Given the description of an element on the screen output the (x, y) to click on. 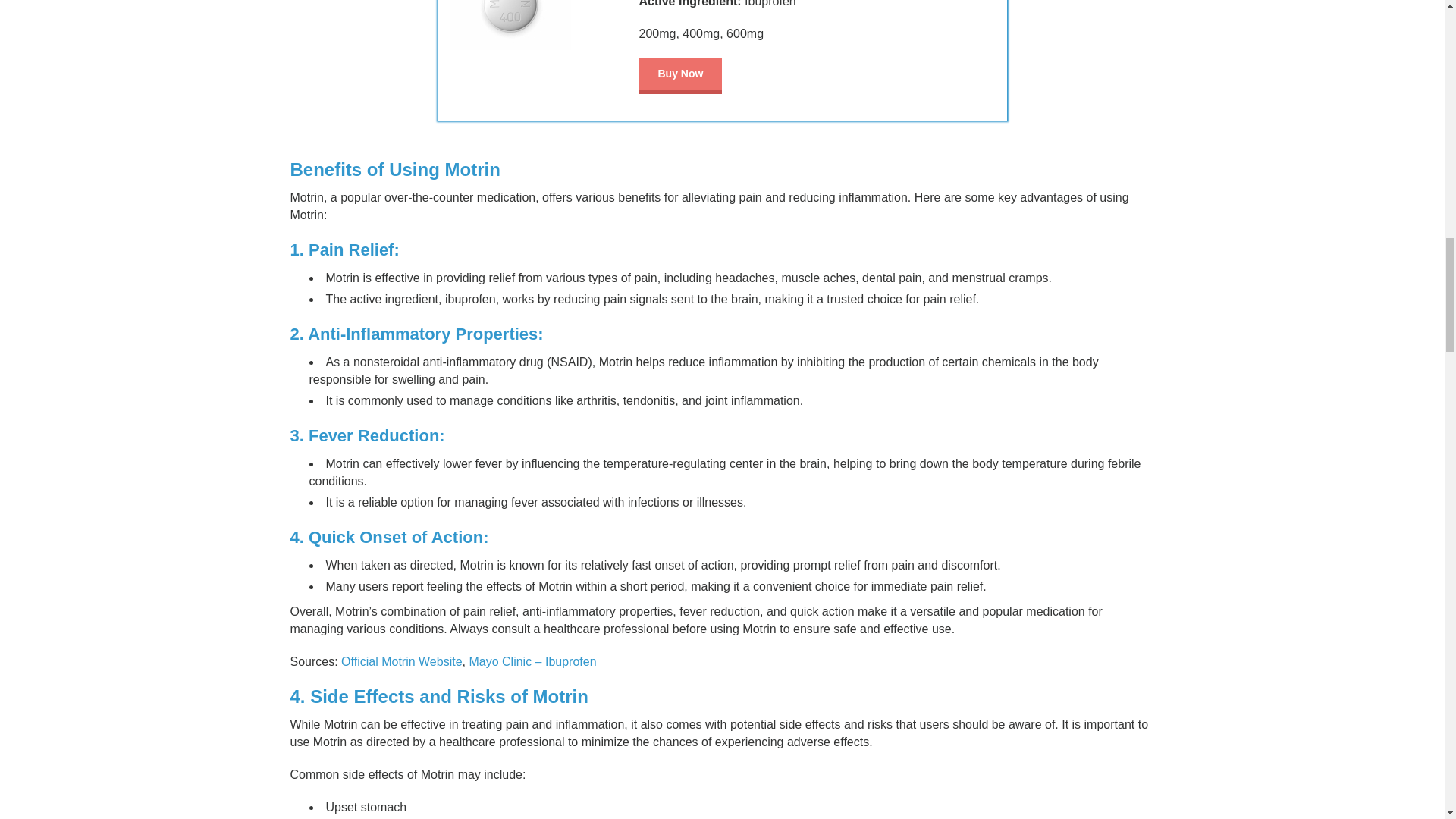
Buy Now (680, 75)
Official Motrin Website (400, 661)
